Given the description of an element on the screen output the (x, y) to click on. 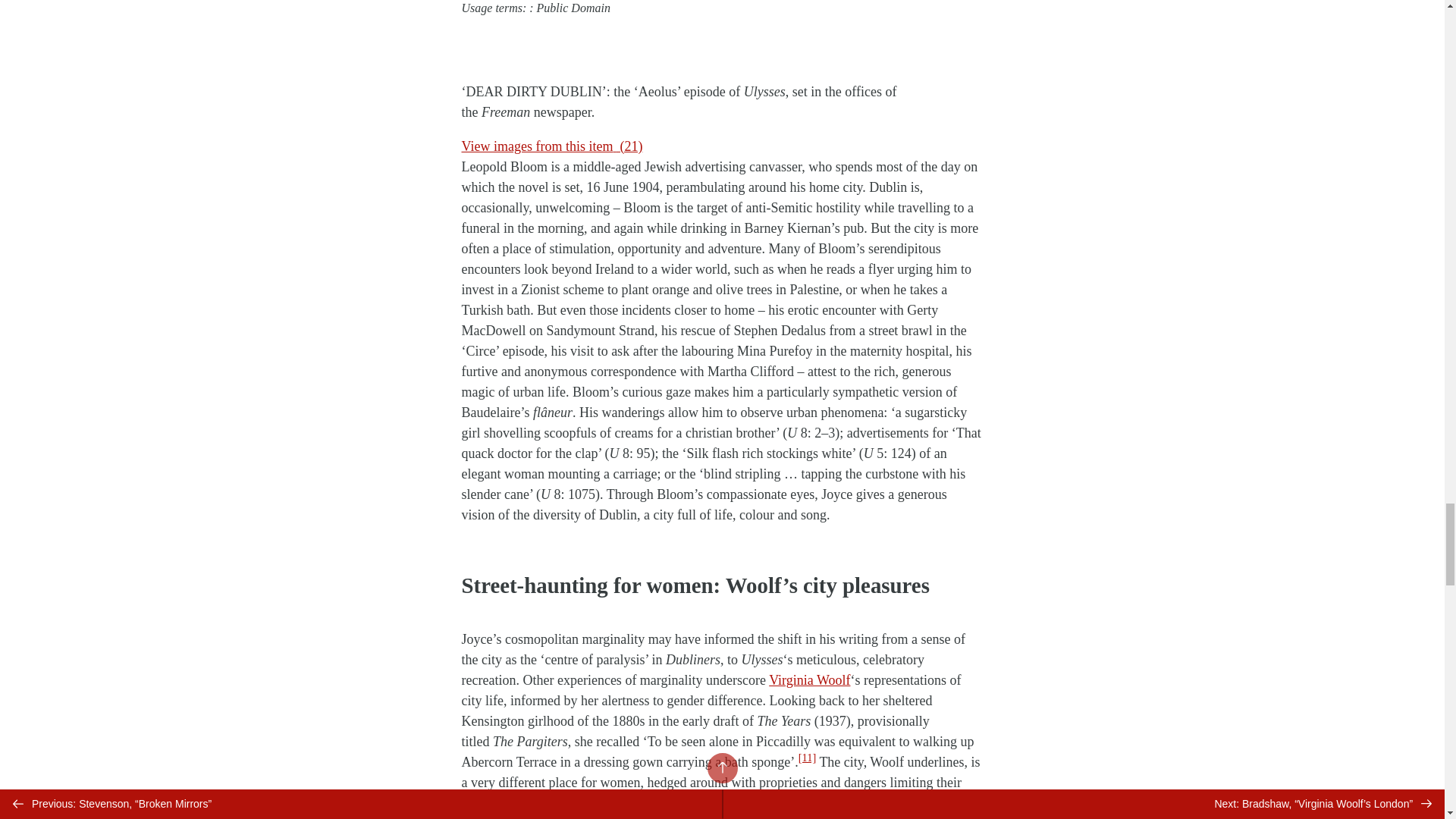
Virginia Woolf (809, 679)
